Given the description of an element on the screen output the (x, y) to click on. 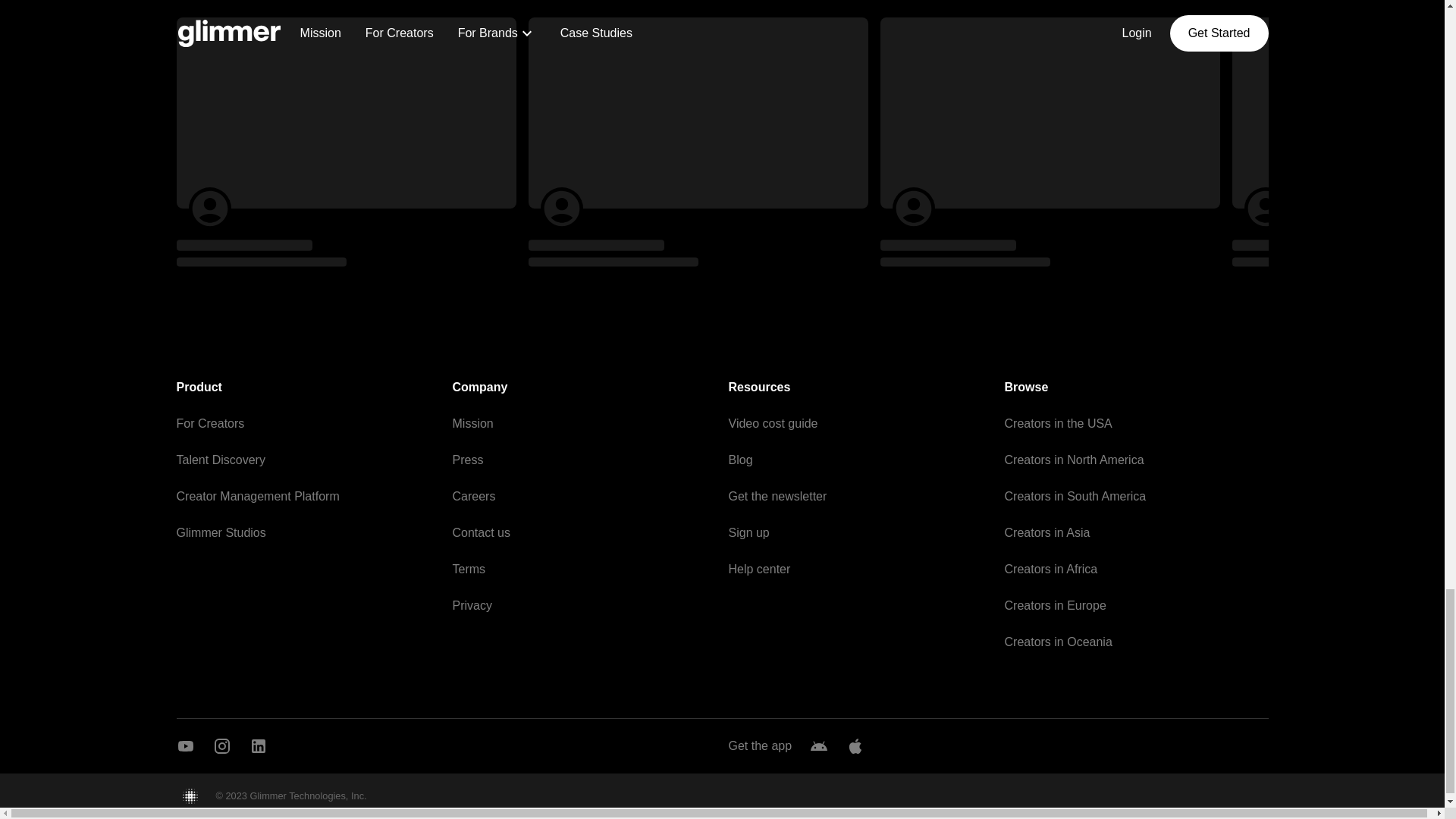
For Creators (210, 422)
Creator Management Platform (257, 495)
Terms (467, 568)
Talent Discovery (220, 459)
Glimmer Studios (220, 532)
Get the newsletter (777, 495)
Video cost guide (772, 422)
Press (467, 459)
Privacy (471, 604)
Contact us (480, 532)
Mission (472, 422)
Blog (740, 459)
Careers (473, 495)
